Given the description of an element on the screen output the (x, y) to click on. 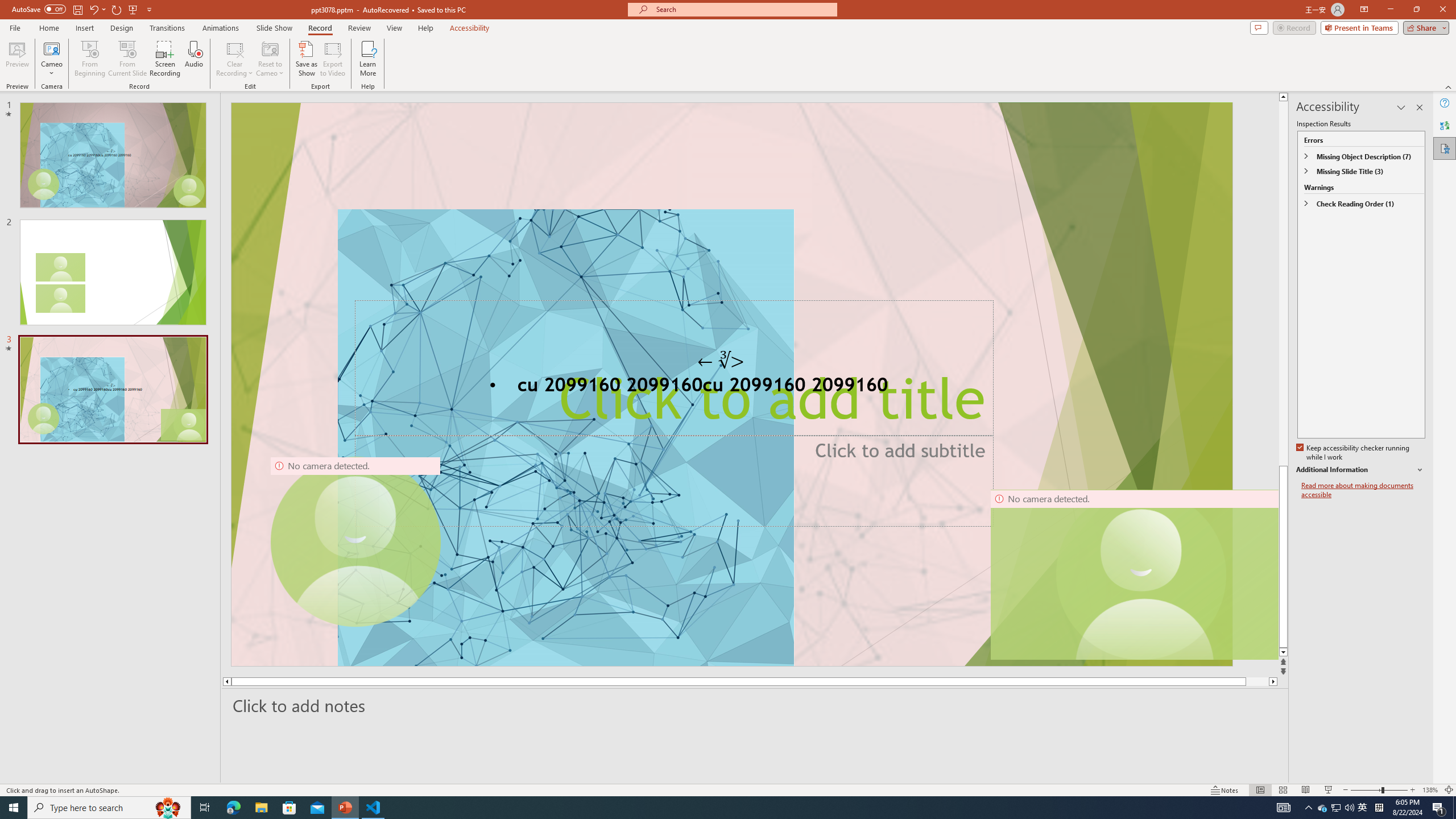
Camera 14, No camera detected. (1134, 574)
Undo (92, 9)
Close (1442, 9)
Close pane (1419, 107)
Subtitle TextBox (673, 480)
Design (122, 28)
An abstract genetic concept (731, 384)
Task Pane Options (1400, 107)
Cameo (51, 48)
Save as Show (306, 58)
Present in Teams (1359, 27)
From Current Slide... (127, 58)
Zoom In (1412, 790)
Restore Down (1416, 9)
System (6, 6)
